Given the description of an element on the screen output the (x, y) to click on. 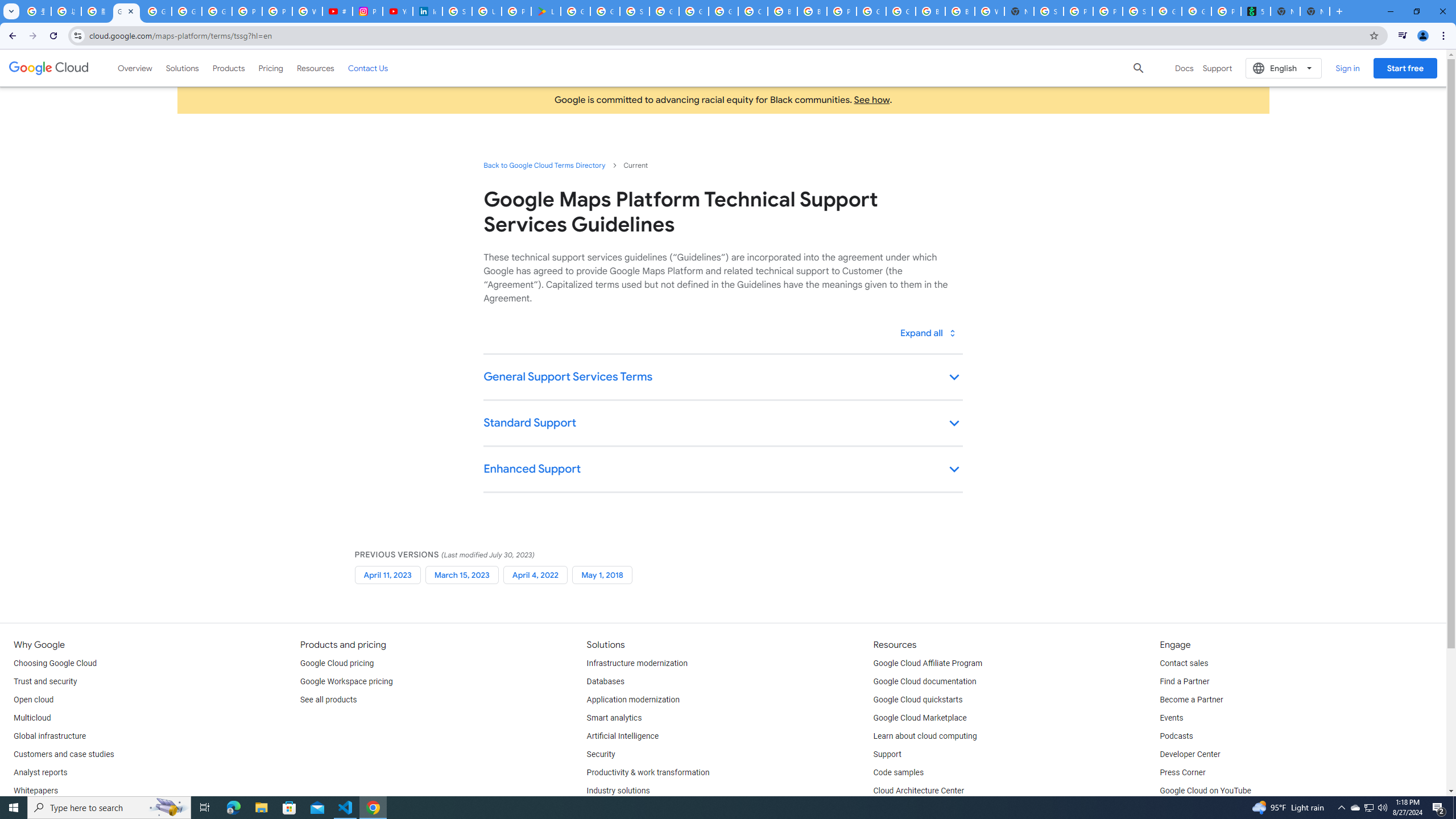
Global infrastructure (49, 736)
Google Cloud Affiliate Program (927, 663)
Trust and security (45, 682)
Smart analytics (614, 718)
See all products (327, 700)
April 4, 2022 (534, 574)
Toggle all (927, 332)
Privacy Help Center - Policies Help (277, 11)
Google Cloud Platform (693, 11)
Resources (314, 67)
Google Cloud on YouTube (1204, 791)
